Given the description of an element on the screen output the (x, y) to click on. 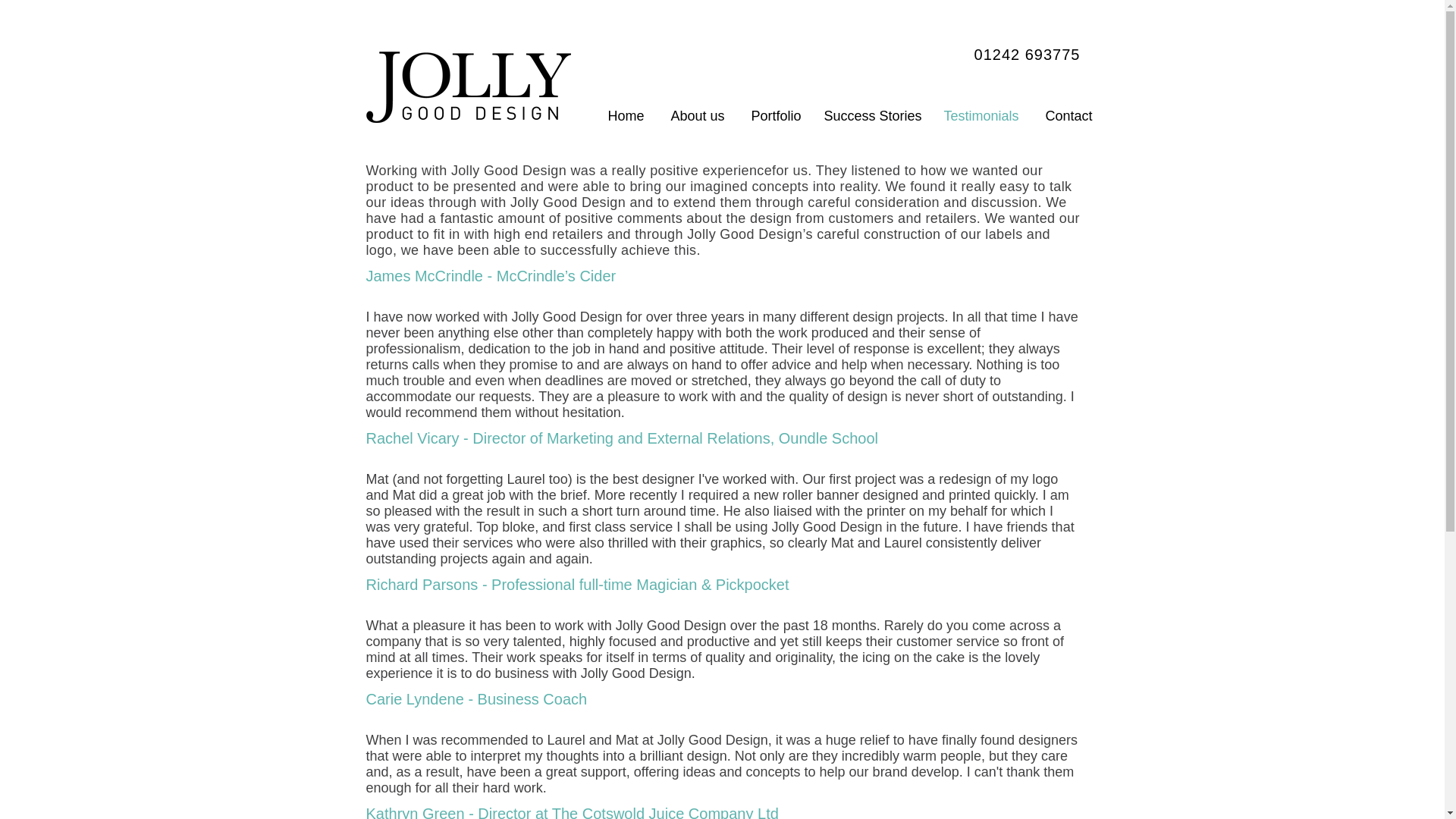
Home (623, 116)
About us (695, 116)
Testimonials (980, 116)
Contact (1066, 116)
Portfolio (773, 116)
Success Stories (871, 116)
